Given the description of an element on the screen output the (x, y) to click on. 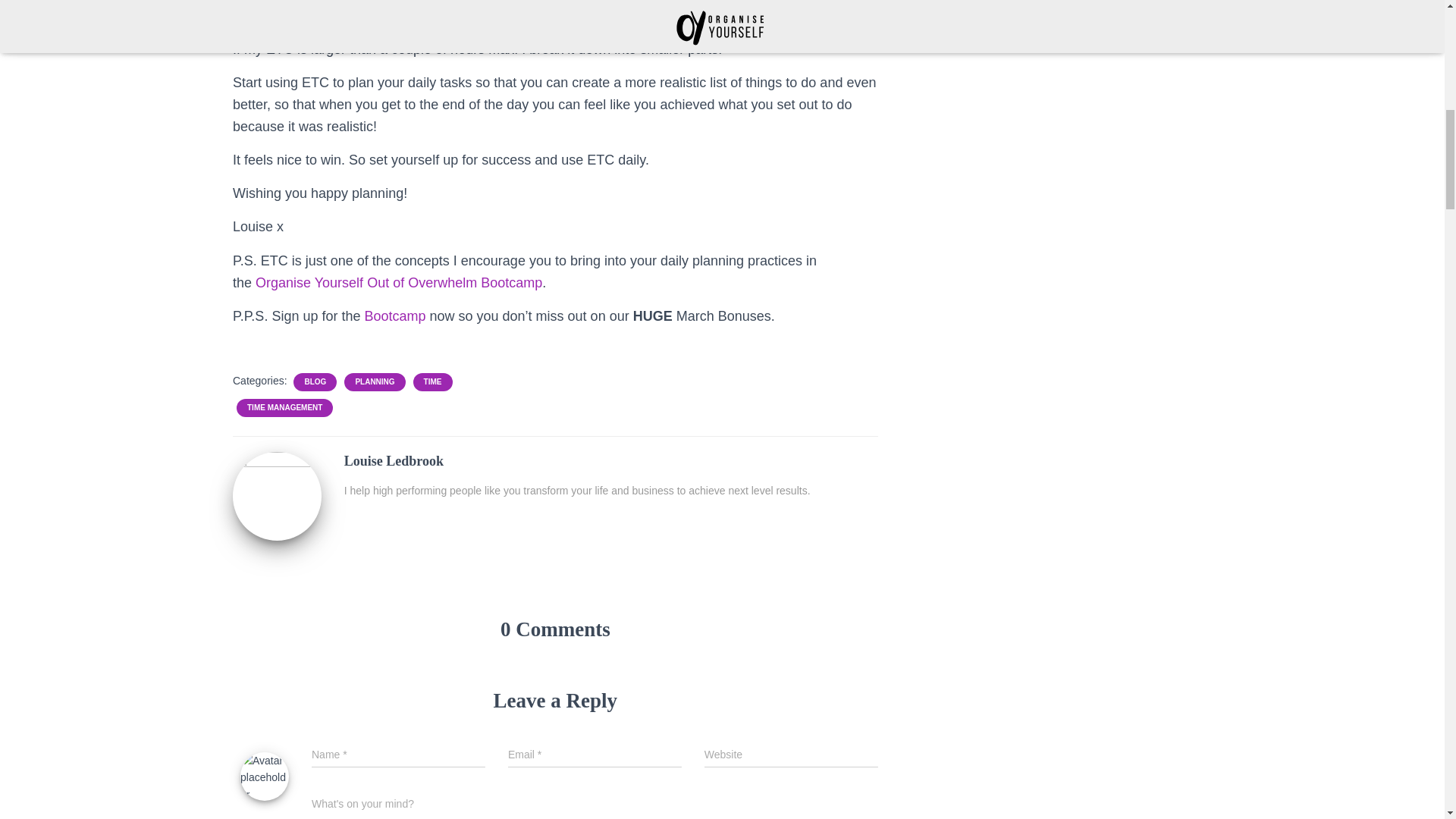
Organise Yourself Out of Overwhelm Bootcamp (398, 282)
TIME (433, 381)
Bootcamp  (396, 315)
BLOG (314, 381)
PLANNING (374, 381)
Louise Ledbrook (276, 494)
TIME MANAGEMENT (284, 407)
